Given the description of an element on the screen output the (x, y) to click on. 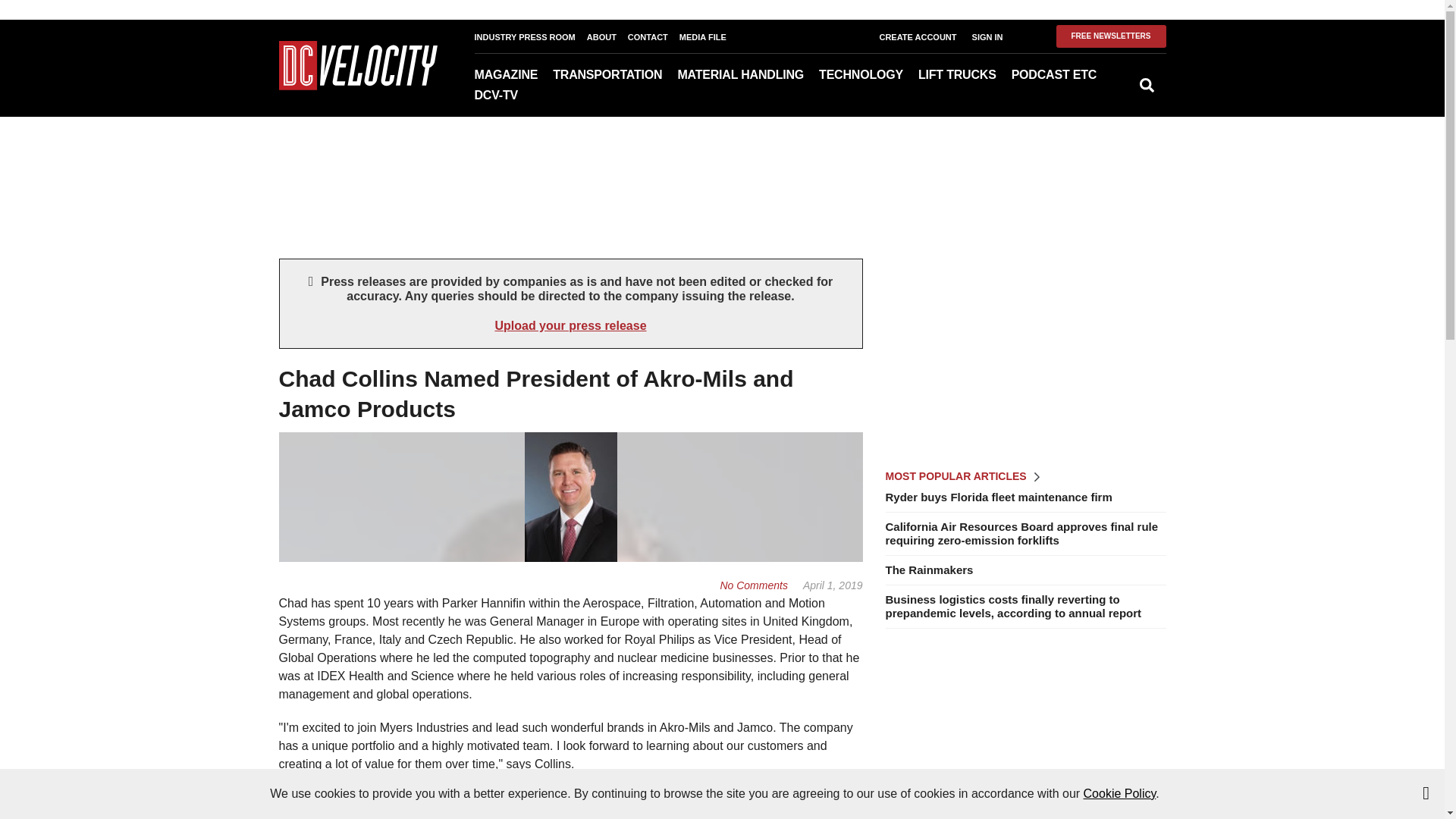
Chad Collins Named President of Akro-Mils and Jamco Products (753, 585)
3rd party ad content (721, 165)
3rd party ad content (1024, 352)
3rd party ad content (1024, 735)
